Given the description of an element on the screen output the (x, y) to click on. 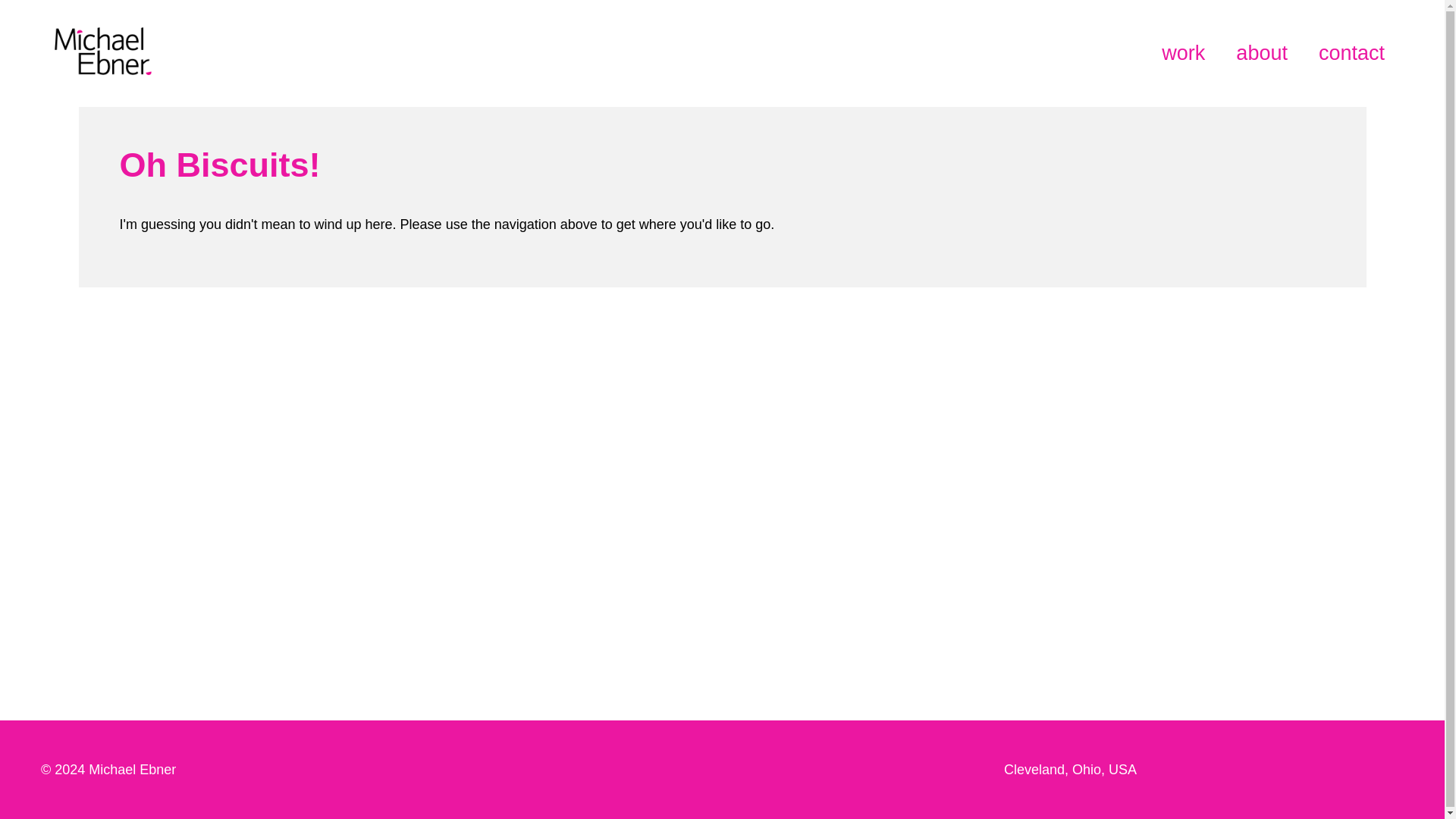
about (1261, 52)
contact (1351, 52)
work (1183, 52)
